Given the description of an element on the screen output the (x, y) to click on. 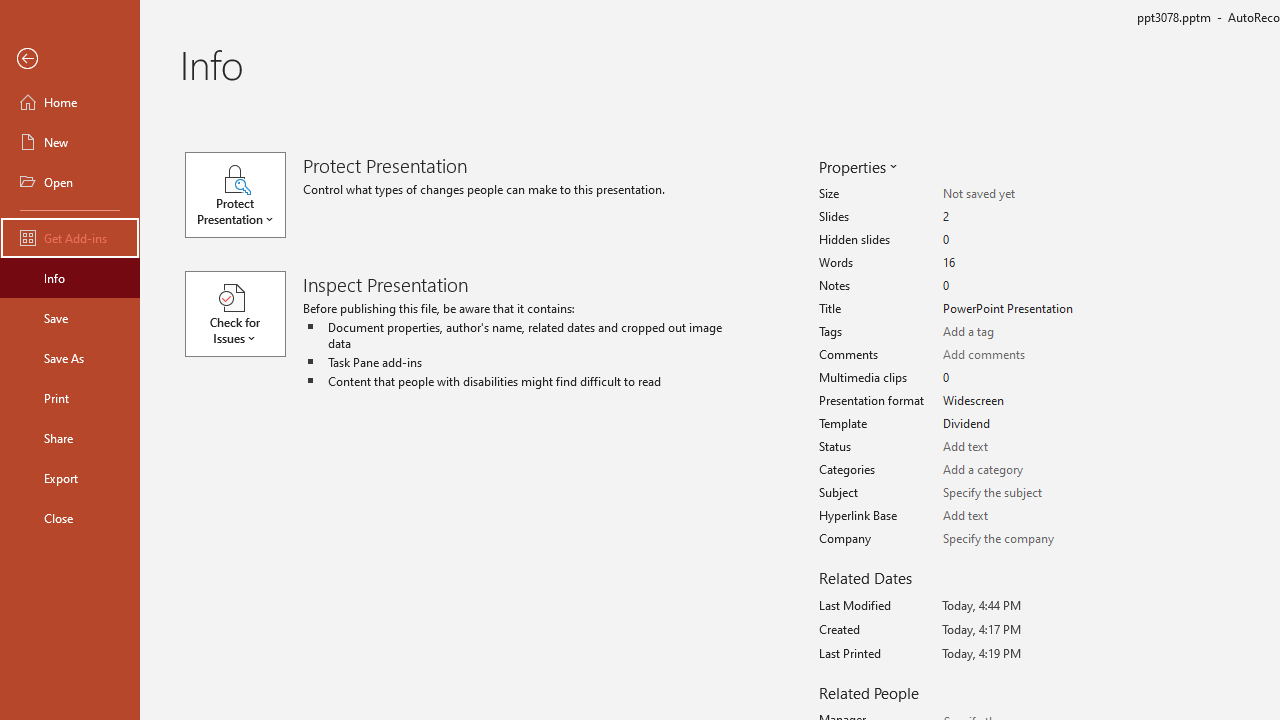
Protect Presentation (244, 194)
New (69, 141)
Get Add-ins (69, 237)
Categories (1012, 470)
Presentation format (1012, 401)
Template (1012, 424)
Slides (1012, 217)
Hyperlink Base (1012, 516)
Multimedia clips (1012, 378)
Export (69, 477)
Print (69, 398)
Subject (1012, 493)
